Given the description of an element on the screen output the (x, y) to click on. 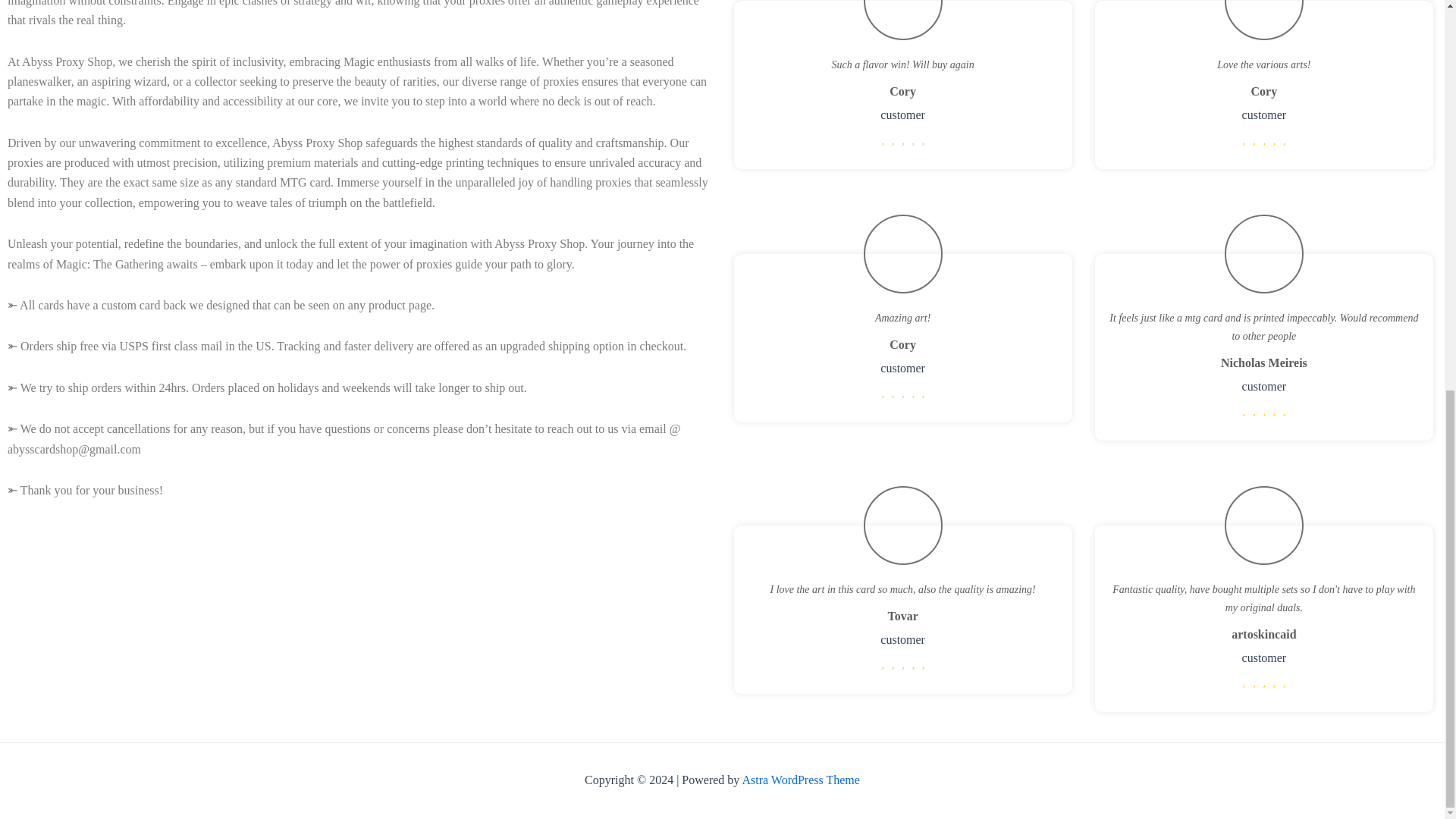
Astra WordPress Theme (800, 779)
